Given the description of an element on the screen output the (x, y) to click on. 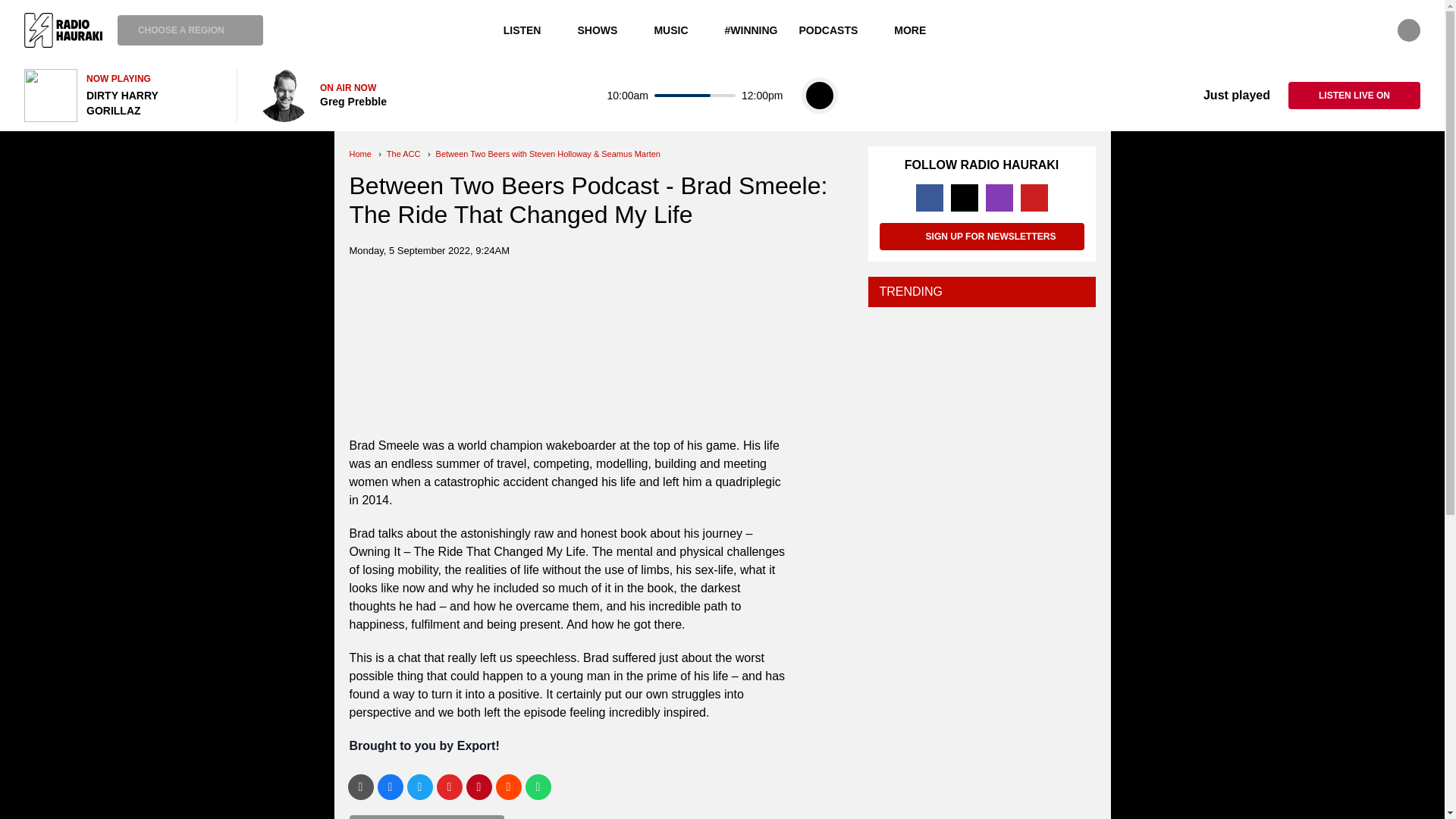
SHOWS (604, 30)
Share with whatsapp (537, 786)
PODCASTS (836, 30)
Hauraki (62, 29)
MUSIC (678, 30)
Share with email (359, 786)
Just played (1225, 95)
Share with pinterest (478, 786)
Share with flipboard (449, 786)
Share with facebook (390, 786)
Share with reddit (508, 786)
CHOOSE A REGION (190, 30)
Listen to DIRTY HARRY by GORILLAZ (121, 95)
Share with twitter (419, 786)
LISTEN (530, 30)
